Given the description of an element on the screen output the (x, y) to click on. 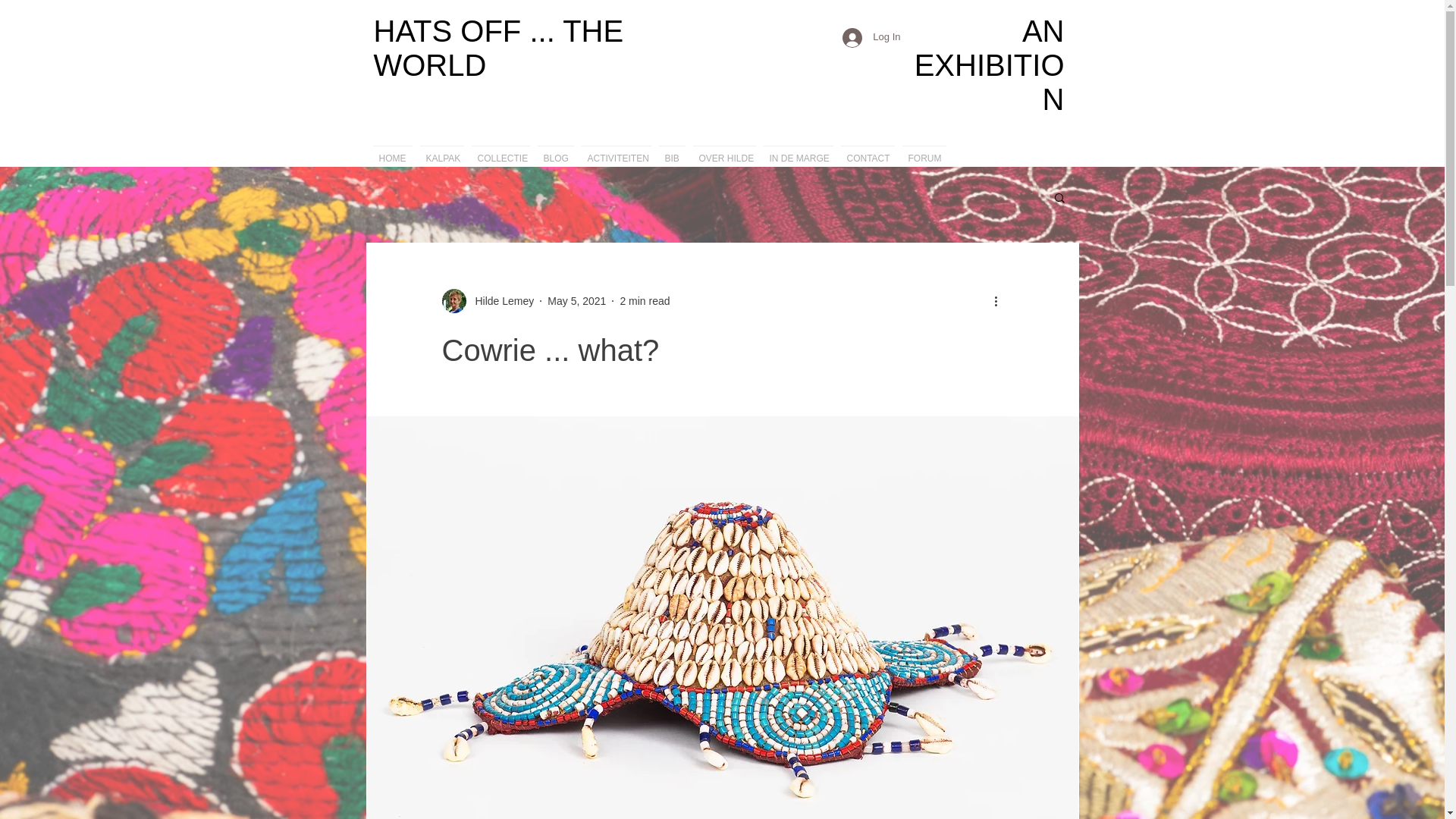
BLOG (556, 151)
Hilde Lemey (499, 300)
KALPAK (440, 151)
HOME (391, 151)
OVER HILDE (723, 151)
Hilde Lemey (487, 300)
COLLECTIE (499, 151)
May 5, 2021 (576, 300)
FORUM (923, 151)
CONTACT (867, 151)
